Given the description of an element on the screen output the (x, y) to click on. 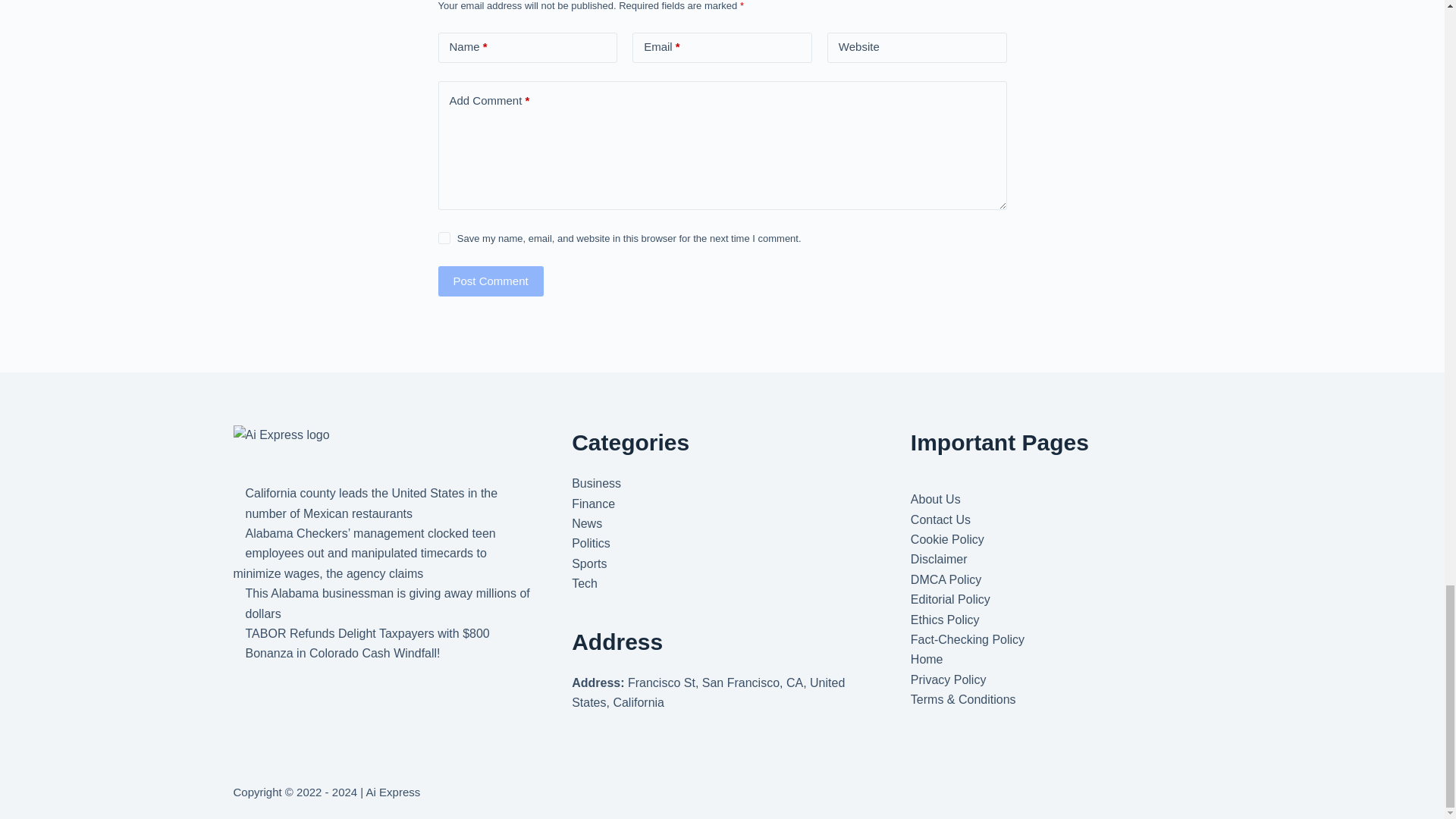
yes (443, 237)
